Given the description of an element on the screen output the (x, y) to click on. 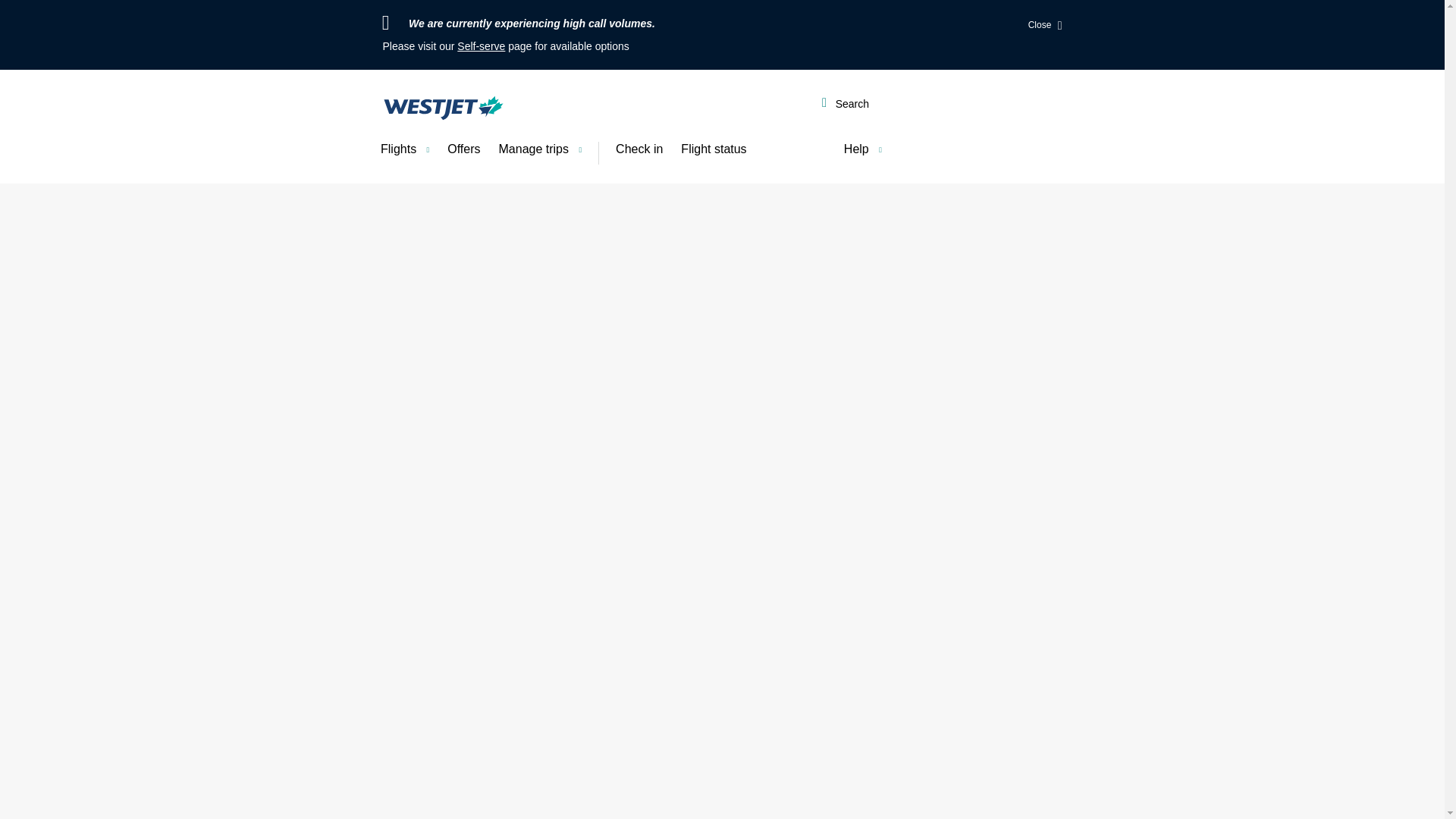
Search (845, 104)
Flight status (713, 149)
Check in (639, 149)
Navigate to the homepage (443, 107)
Flights (404, 149)
Manage trips (540, 149)
Self-serve (481, 46)
Close (1044, 25)
Offers (463, 149)
